Given the description of an element on the screen output the (x, y) to click on. 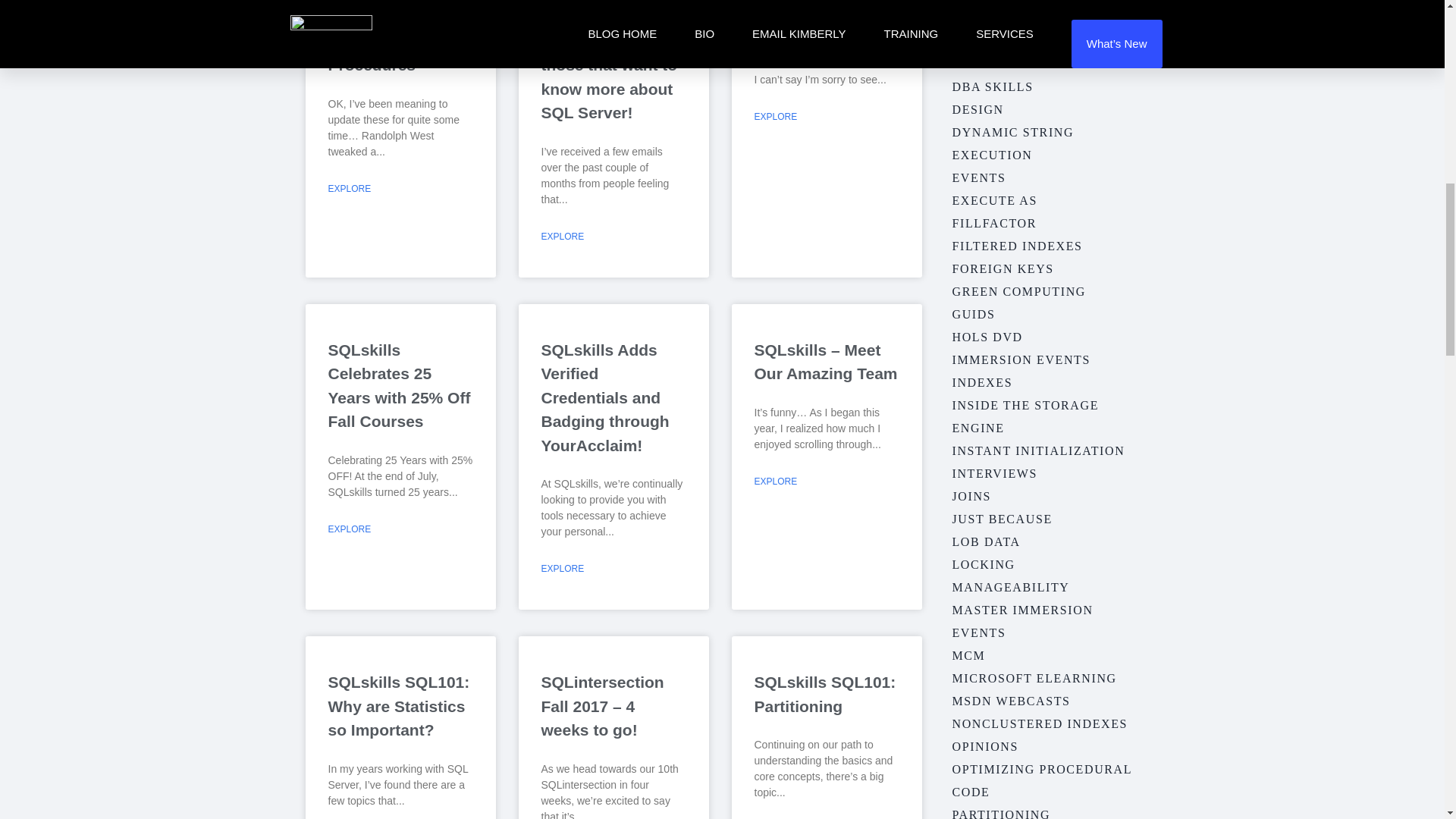
Introducing the SQLskills Blackbelt Badge (815, 24)
EXPLORE (775, 116)
EXPLORE (349, 188)
USE THESE: Updates to SQLskills Index Procedures (386, 37)
EXPLORE (349, 528)
EXPLORE (563, 235)
